Given the description of an element on the screen output the (x, y) to click on. 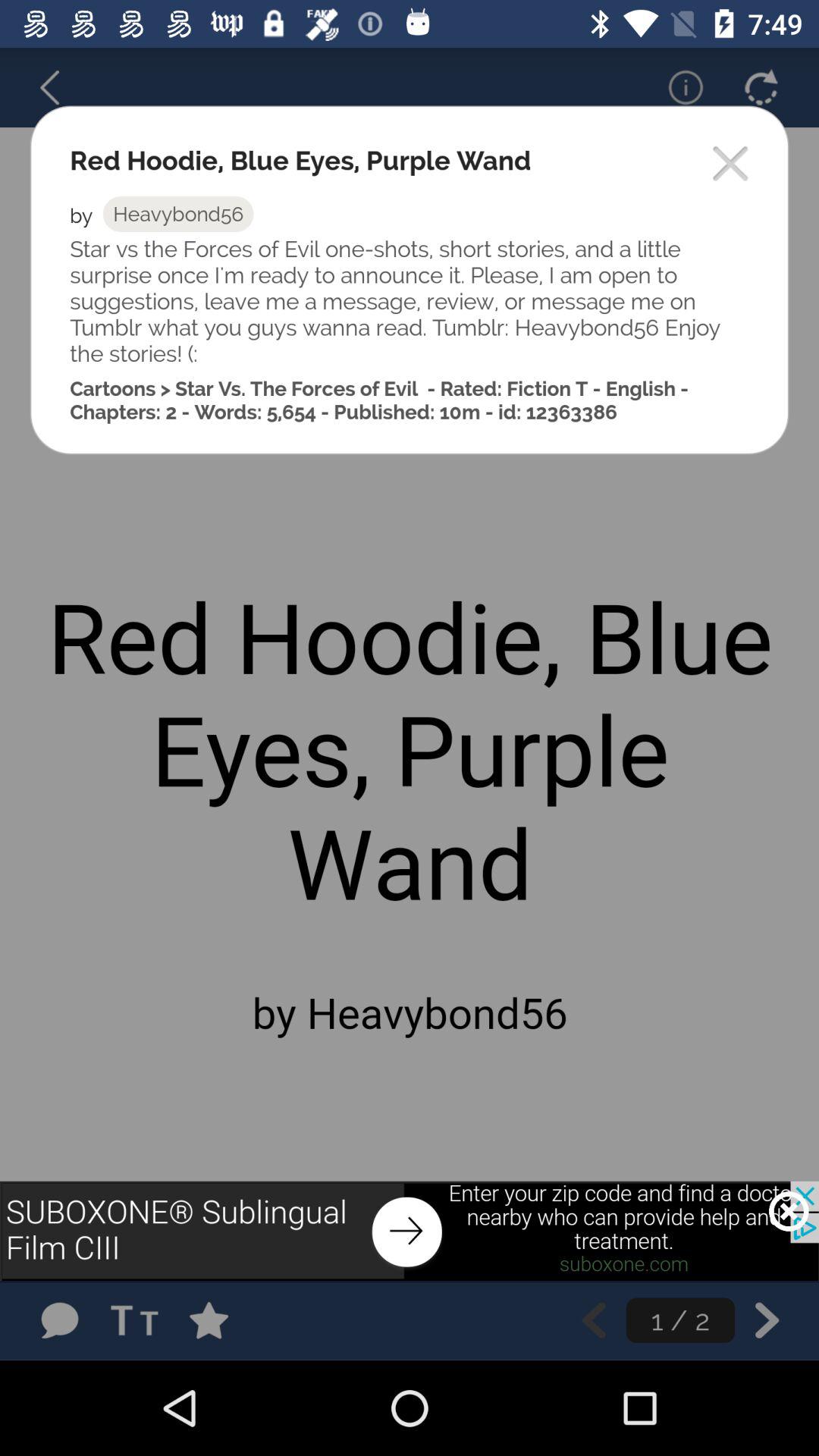
information (675, 87)
